Given the description of an element on the screen output the (x, y) to click on. 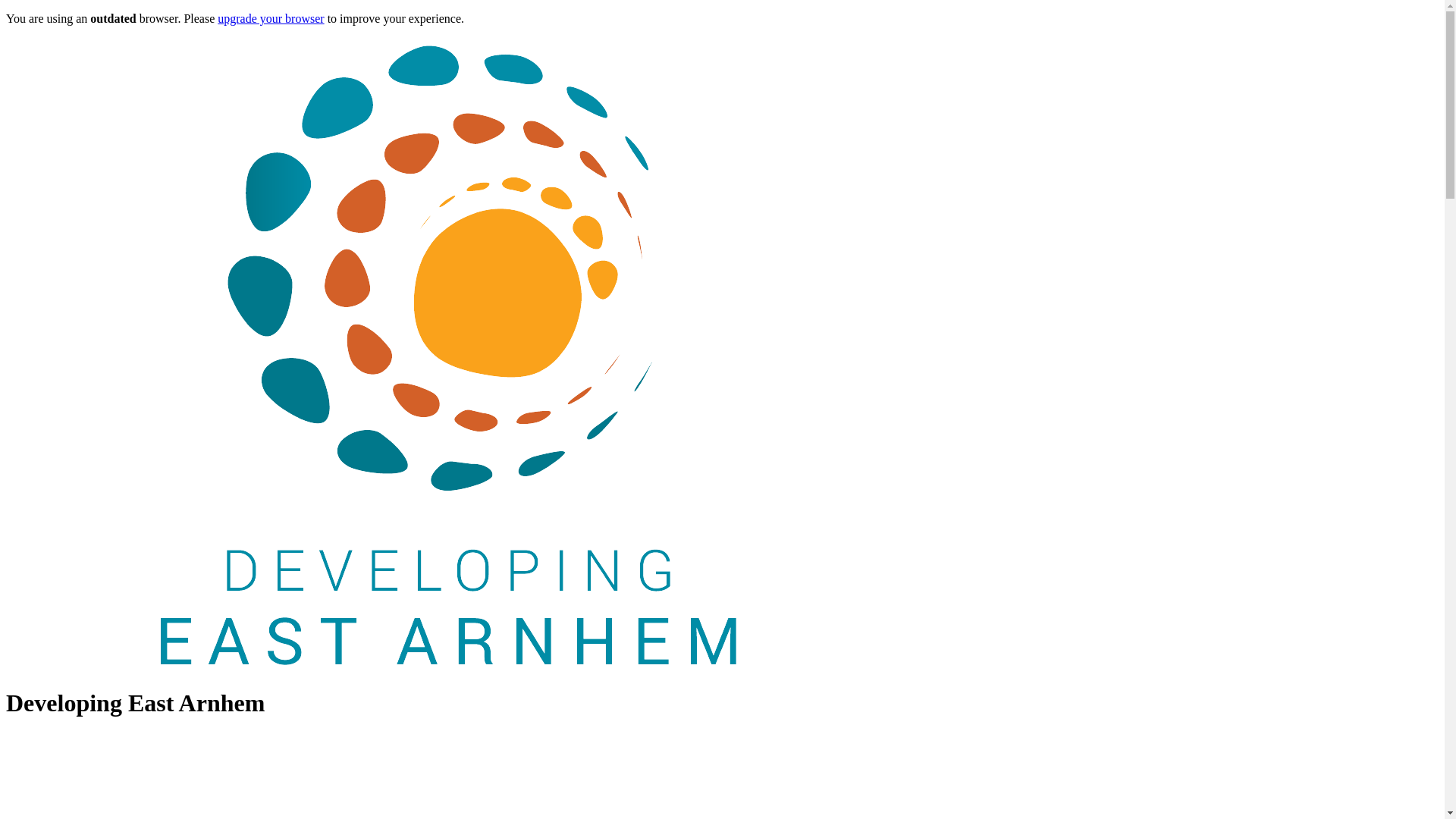
upgrade your browser Element type: text (270, 18)
